Given the description of an element on the screen output the (x, y) to click on. 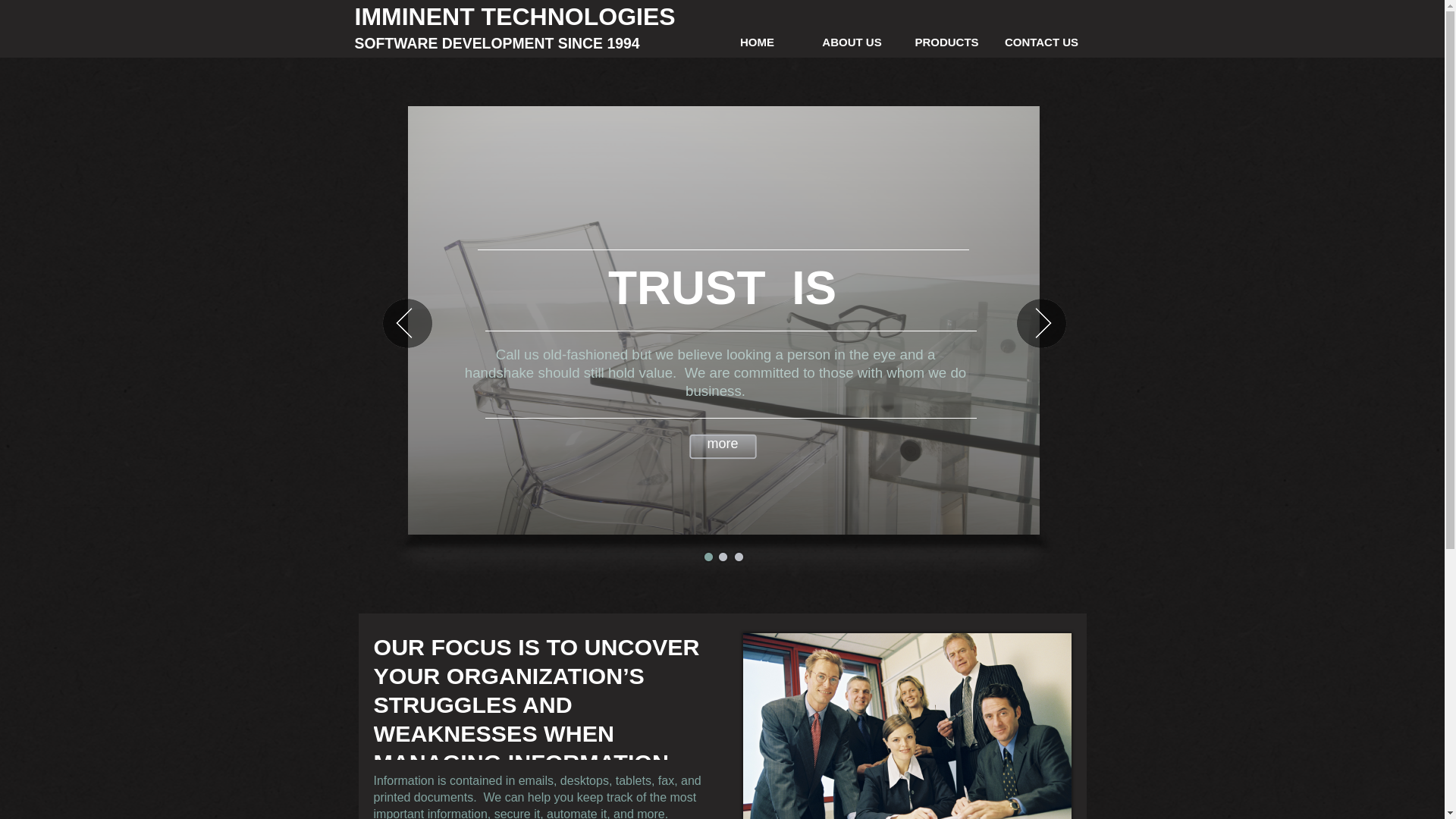
ABOUT US (852, 43)
PRODUCTS (946, 43)
more (722, 446)
HOME (757, 43)
CONTACT US (1041, 43)
